Given the description of an element on the screen output the (x, y) to click on. 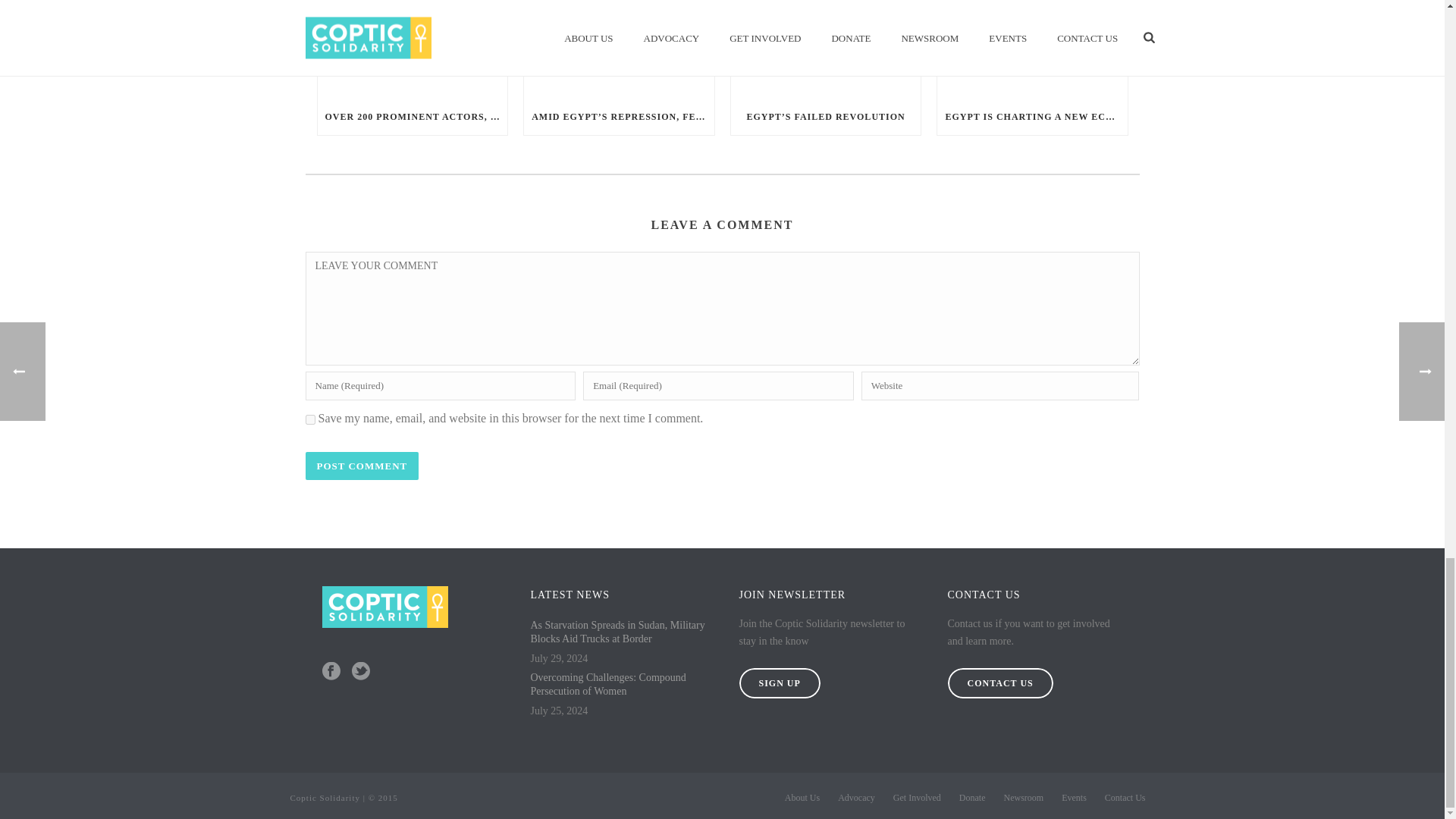
Egypt Is Charting a New Economic Course (1031, 48)
yes (309, 419)
 facebook (330, 671)
CONTACT US (999, 683)
POST COMMENT (361, 465)
 twitter (360, 671)
SIGN UP (778, 683)
